Given the description of an element on the screen output the (x, y) to click on. 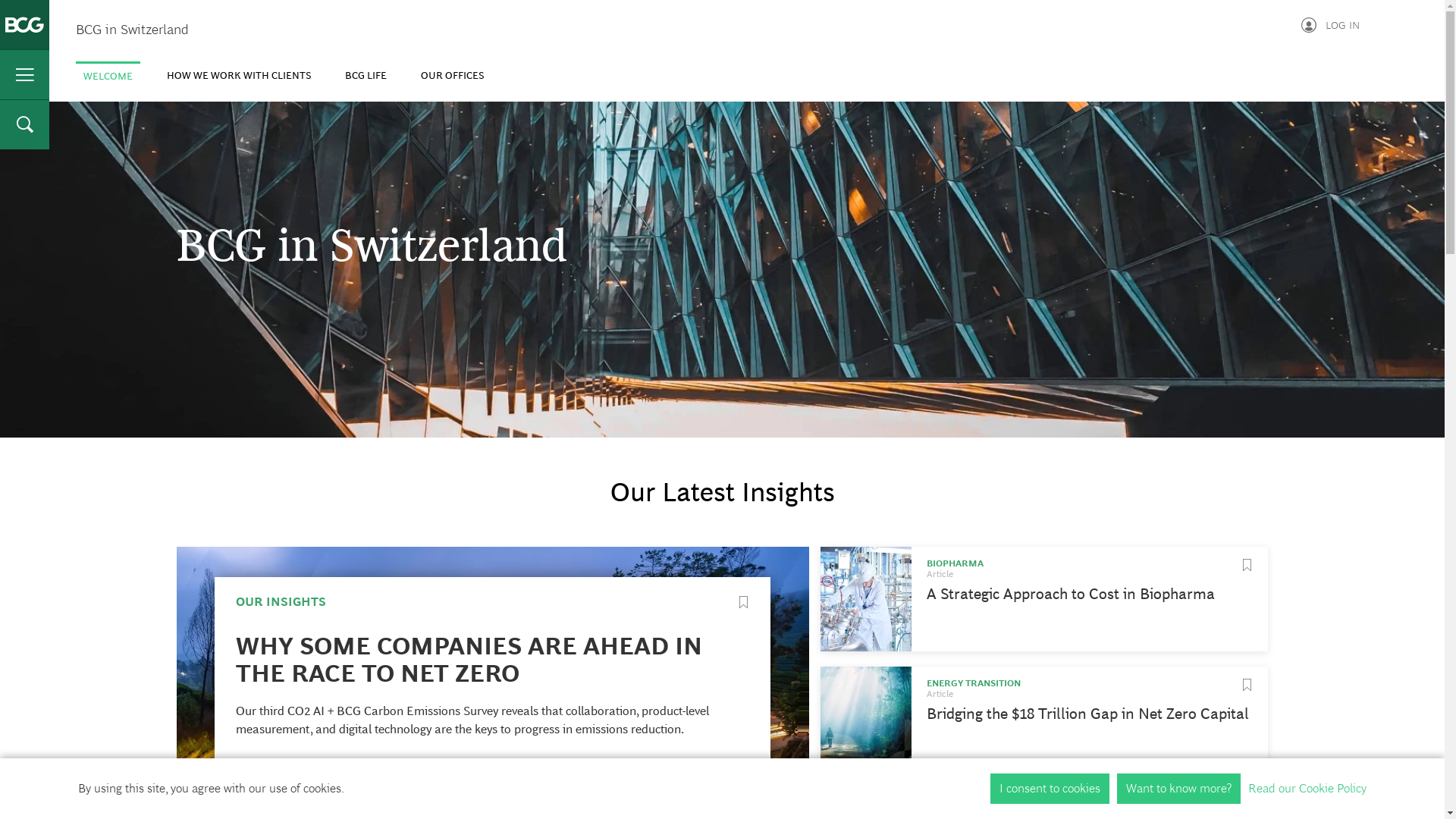
Save Content Element type: hover (743, 602)
Read our Cookie Policy Element type: text (1307, 788)
BCG LIFE Element type: text (365, 75)
I consent to cookies Element type: text (1049, 788)
OUR OFFICES Element type: text (451, 75)
WELCOME Element type: text (107, 75)
Save Content Element type: hover (1246, 564)
Save Content Element type: hover (1246, 804)
A Strategic Approach to Cost in Biopharma
BIOPHARMA
Article Element type: text (1044, 598)
Want to know more? Element type: text (1178, 788)
READ MORE Element type: text (272, 768)
Save Content Element type: hover (1246, 684)
HOW WE WORK WITH CLIENTS Element type: text (238, 75)
